Given the description of an element on the screen output the (x, y) to click on. 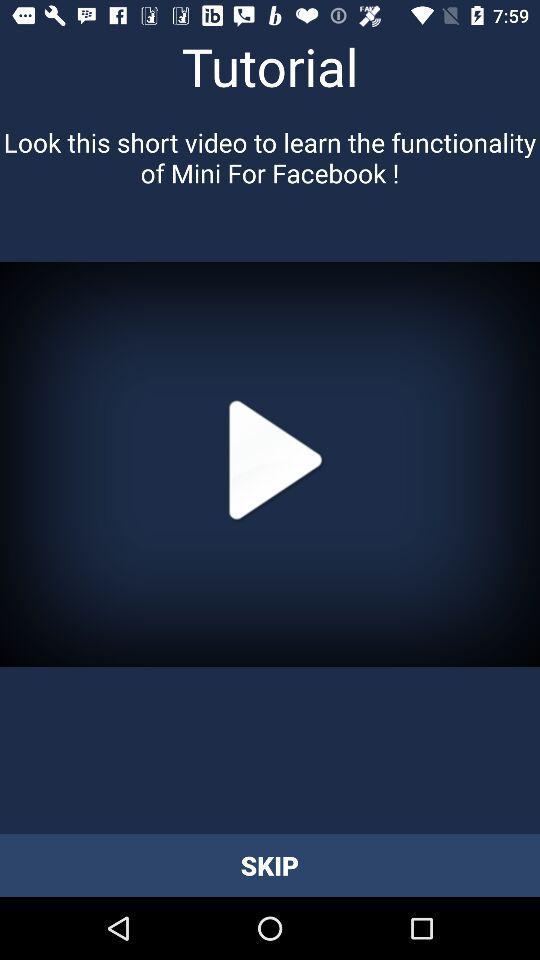
swipe to skip item (270, 864)
